Given the description of an element on the screen output the (x, y) to click on. 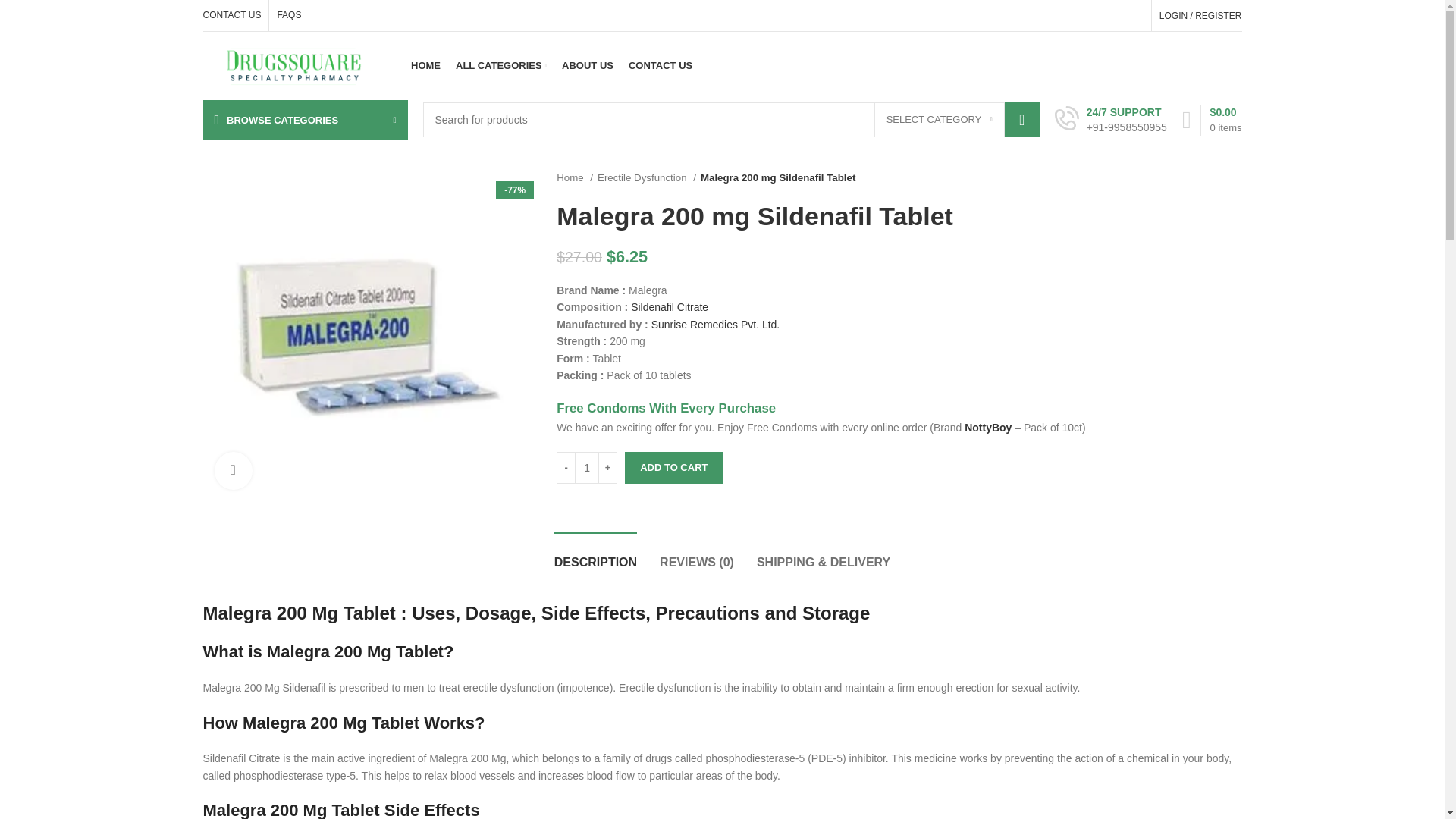
Buy online low cost Malegra 200mg (368, 335)
CONTACT US (232, 15)
SELECT CATEGORY (939, 119)
My account (1200, 15)
Search for products (731, 119)
Shopping cart (1211, 119)
HOME (425, 65)
ALL CATEGORIES (501, 65)
